Given the description of an element on the screen output the (x, y) to click on. 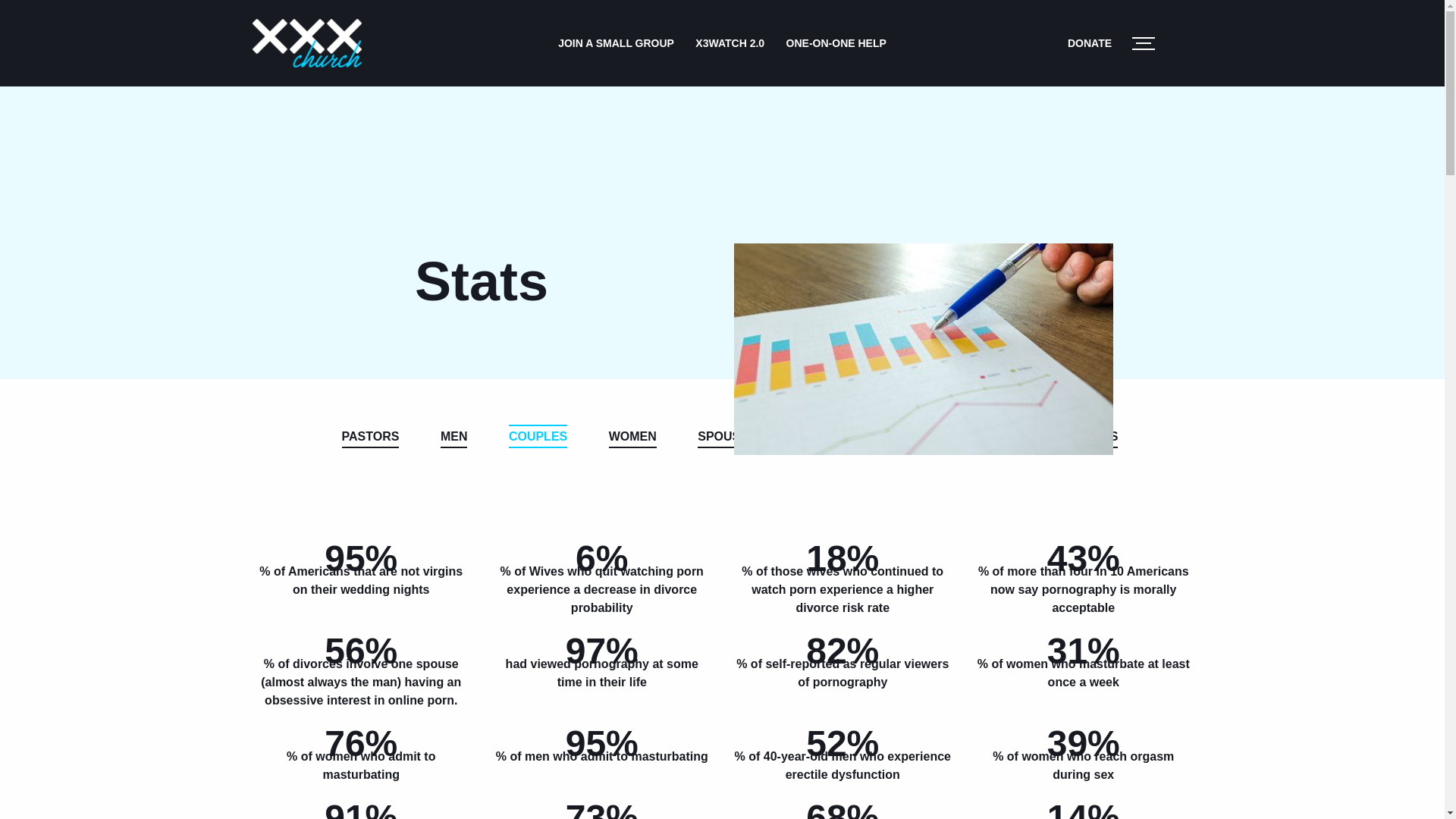
X3WATCH 2.0 (729, 43)
JOIN A SMALL GROUP (615, 43)
ONE-ON-ONE HELP (836, 43)
DONATE (1089, 43)
